Given the description of an element on the screen output the (x, y) to click on. 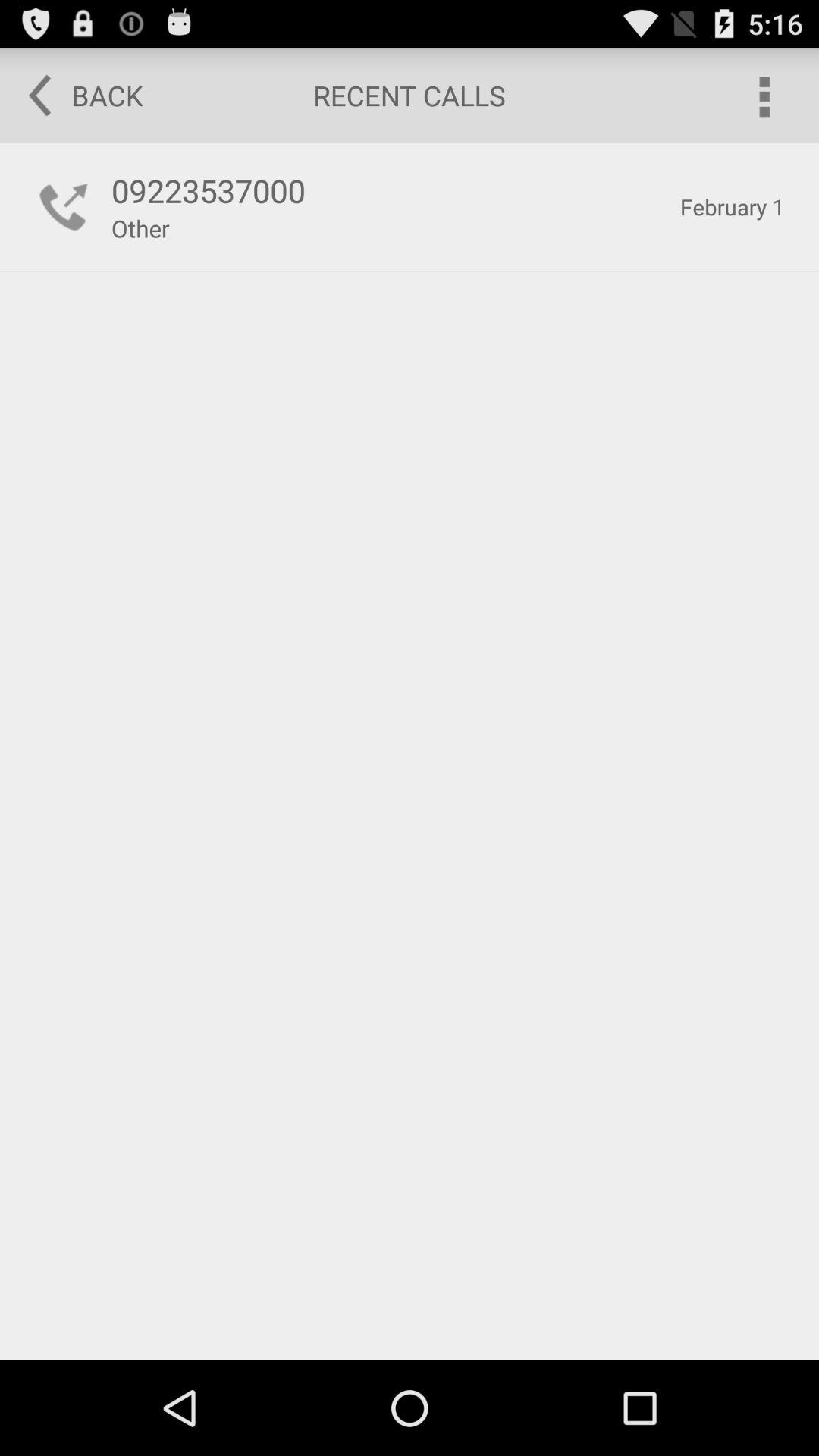
recent calls menu (763, 95)
